Given the description of an element on the screen output the (x, y) to click on. 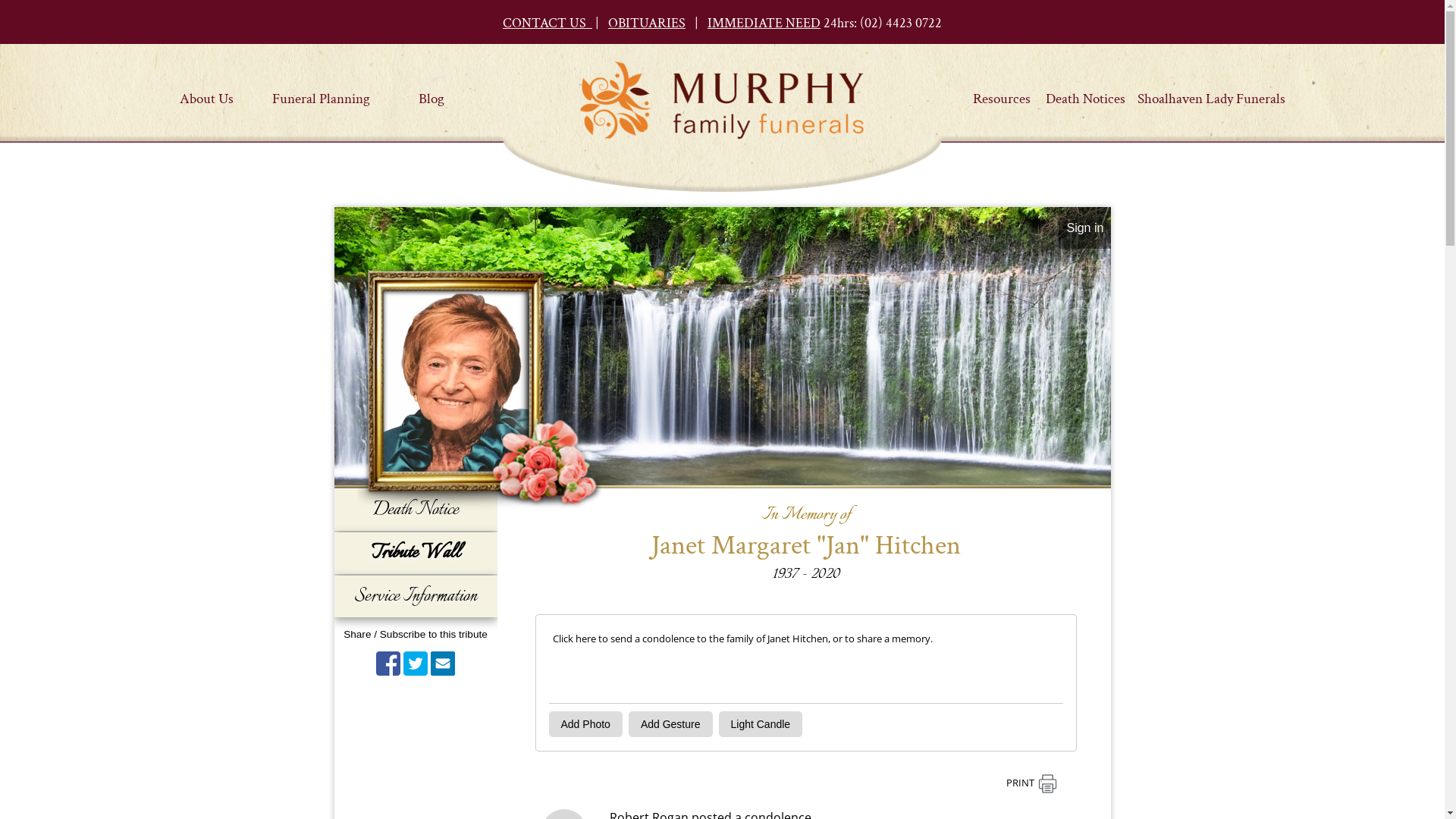
Tribute Wall Element type: text (415, 552)
Death Notices Element type: text (1085, 92)
Shoalhaven Lady Funerals Element type: text (1211, 92)
Twitter Element type: hover (415, 663)
Facebook Element type: hover (388, 663)
Receive Notifications Element type: hover (442, 663)
Blog Element type: text (430, 92)
PRINT Element type: text (1031, 783)
Sign in Element type: text (1084, 227)
Resources Element type: text (1001, 92)
Death Notice Element type: text (415, 509)
CONTACT US   Element type: text (547, 22)
About Us Element type: text (206, 92)
Funeral Planning Element type: text (320, 92)
OBITUARIES Element type: text (646, 22)
IMMEDIATE NEED Element type: text (763, 22)
Service Information Element type: text (415, 596)
